Given the description of an element on the screen output the (x, y) to click on. 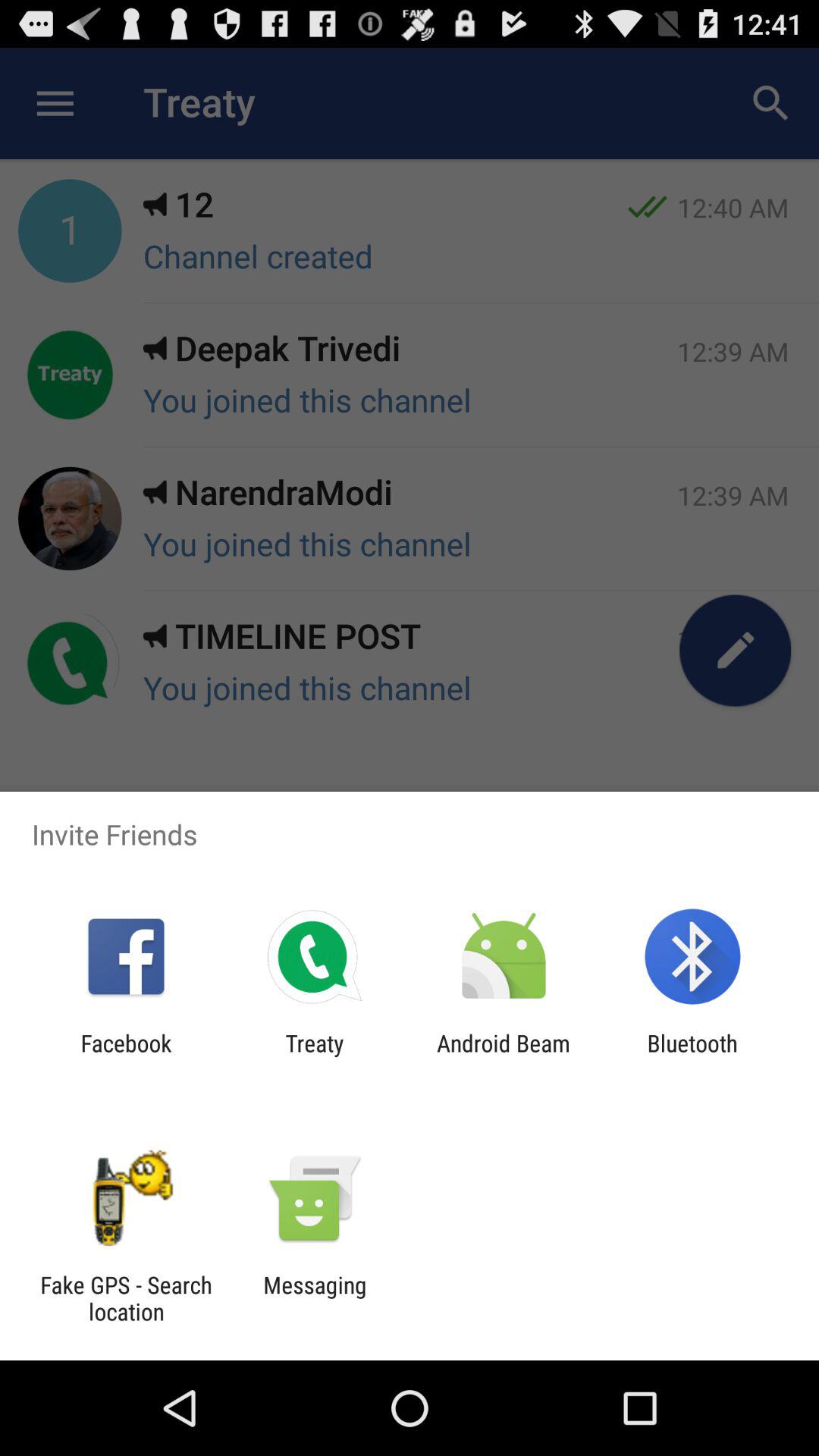
swipe to messaging item (314, 1298)
